Given the description of an element on the screen output the (x, y) to click on. 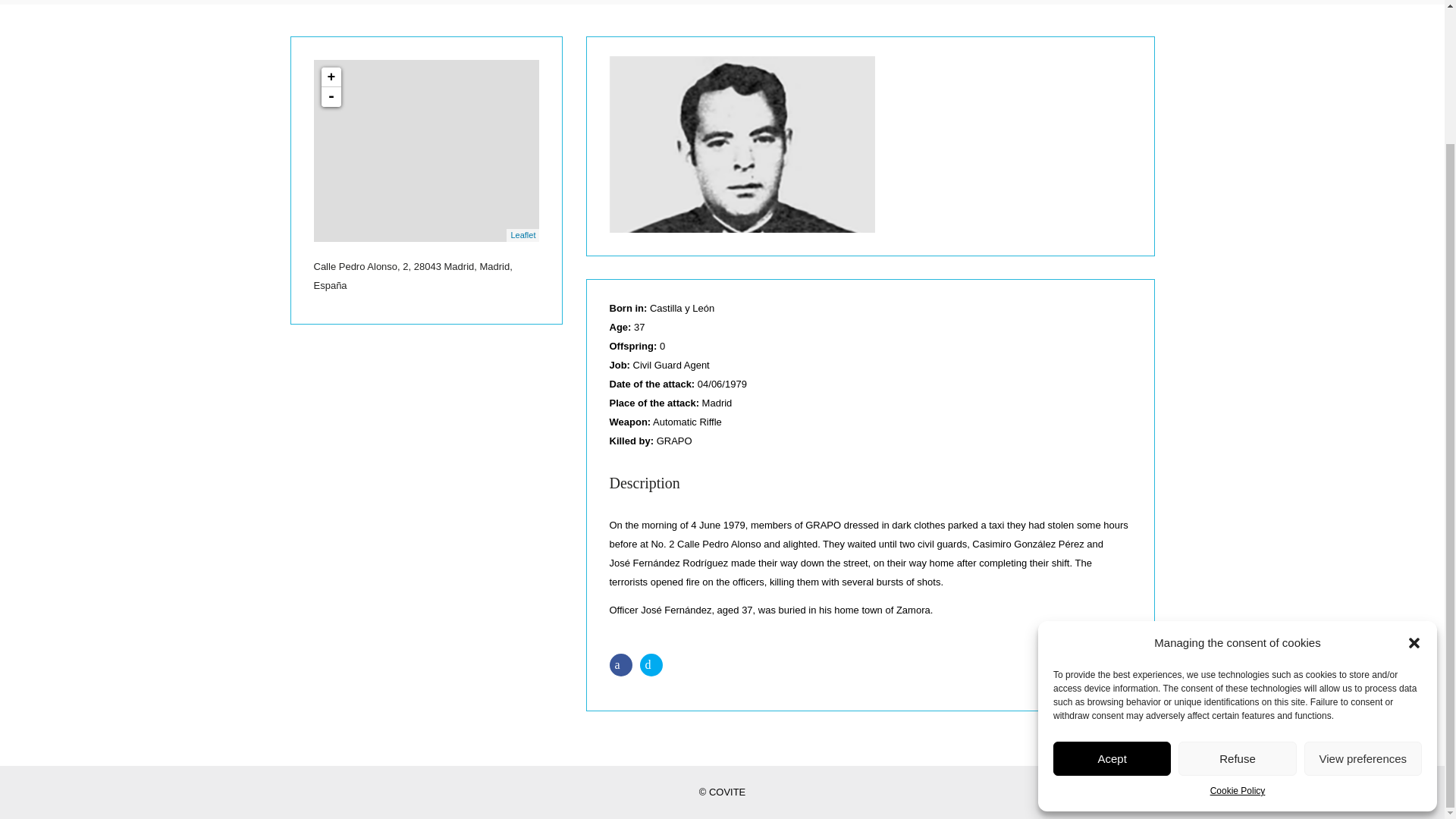
Cookie Policy (1237, 627)
View preferences (1363, 594)
Share on Facebook (623, 664)
Zoom out (330, 96)
Zoom in (330, 76)
A JS library for interactive maps (523, 234)
Share on Twitter (653, 664)
Acept (1111, 594)
Refuse (1236, 594)
